Given the description of an element on the screen output the (x, y) to click on. 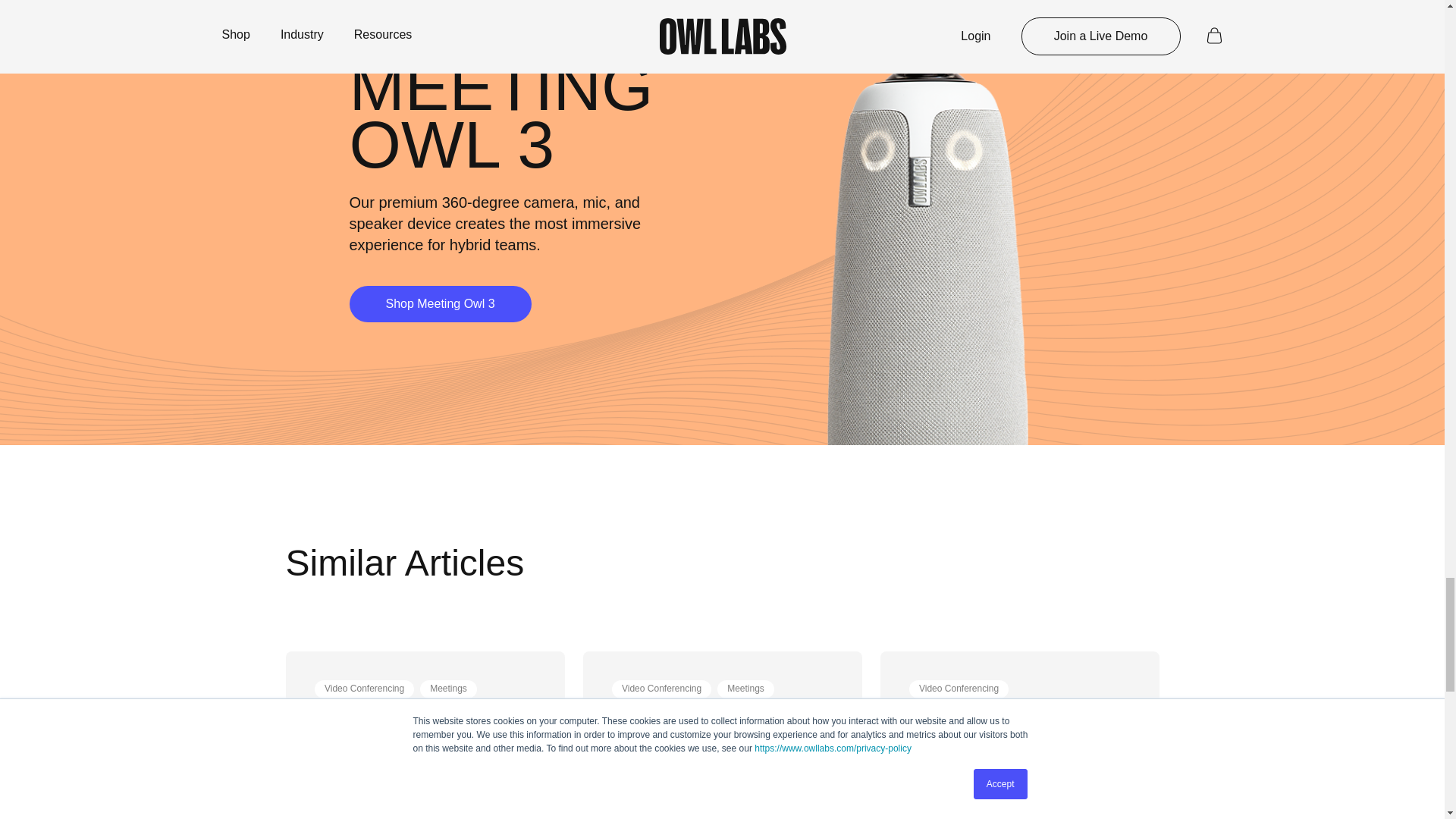
Meetings (448, 688)
Video Conferencing (958, 688)
Video Conferencing (661, 688)
Meetings (745, 688)
Shop Meeting Owl 3 (440, 303)
Work From Anywhere (665, 712)
Video Conferencing (364, 688)
Work From Anywhere (368, 712)
